Given the description of an element on the screen output the (x, y) to click on. 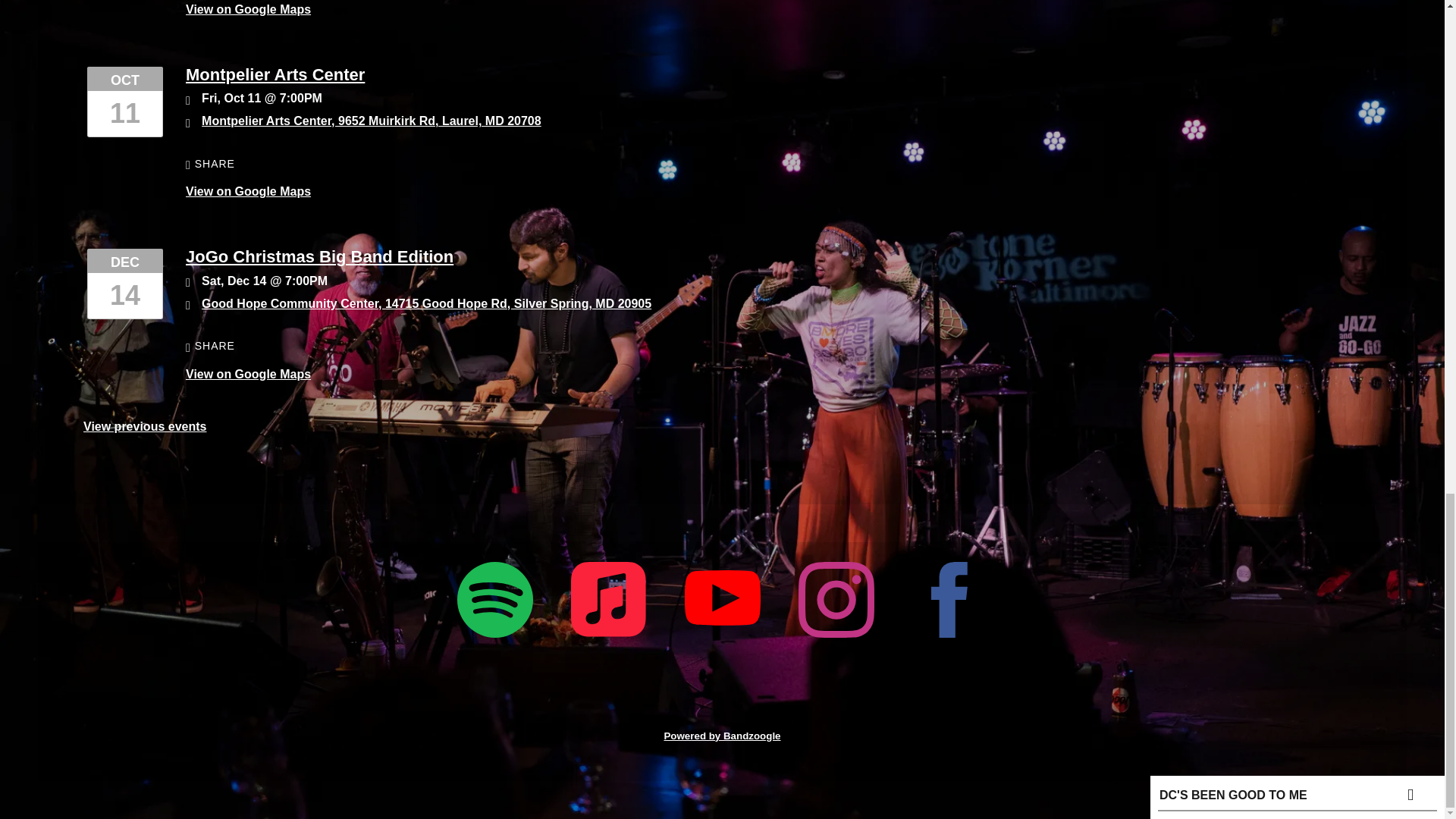
Montpelier Arts Center (275, 74)
View on Google Maps (248, 9)
Powered by Bandzoogle (721, 735)
View on Google Maps (248, 373)
Powered by Bandzoogle (721, 735)
Montpelier Arts Center, 9652 Muirkirk Rd, Laurel, MD 20708 (371, 120)
JoGo Christmas Big Band Edition (319, 256)
View on Google Maps (371, 120)
SHARE (210, 164)
